Given the description of an element on the screen output the (x, y) to click on. 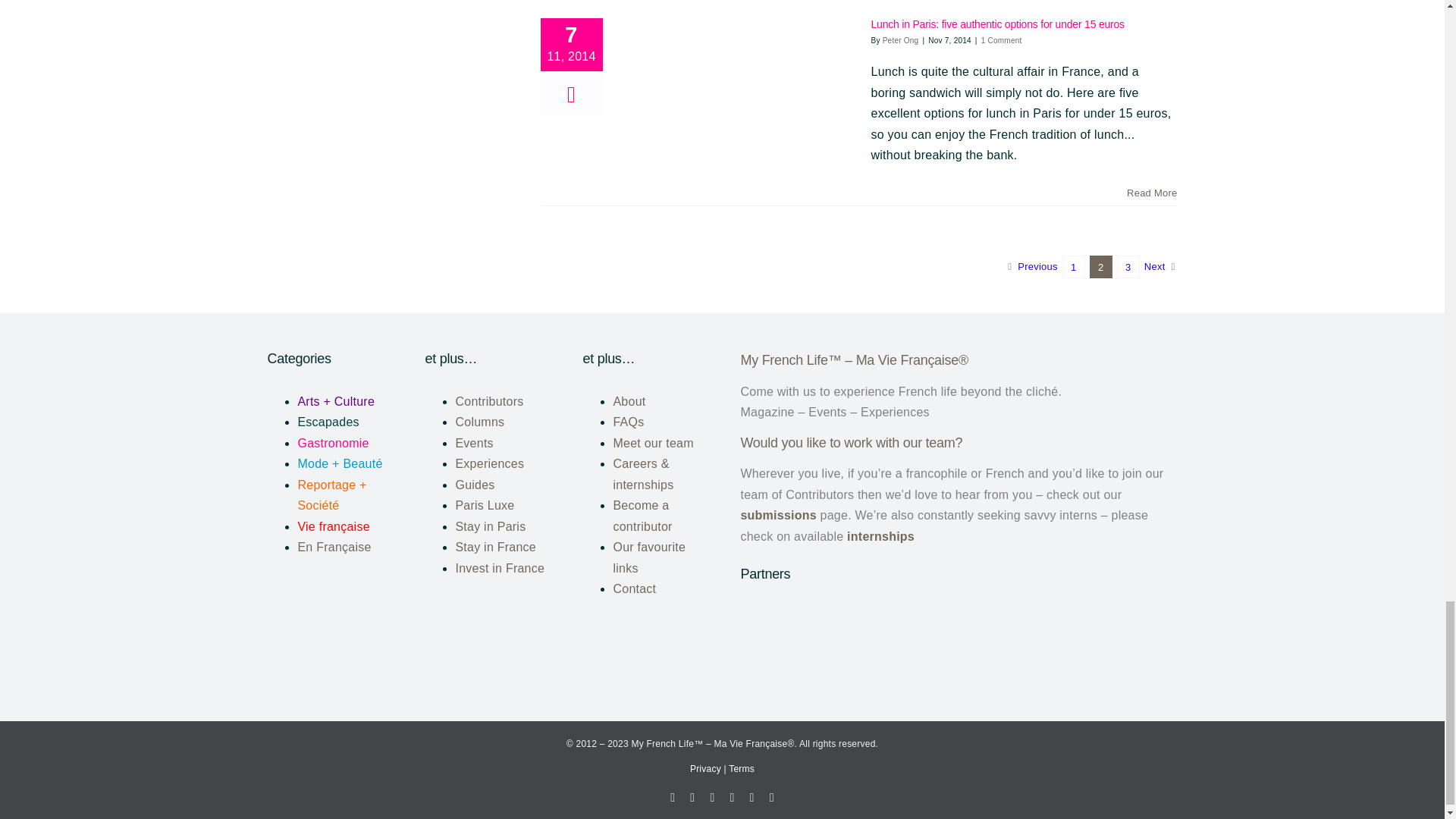
Posts by Peter Ong (900, 40)
